Given the description of an element on the screen output the (x, y) to click on. 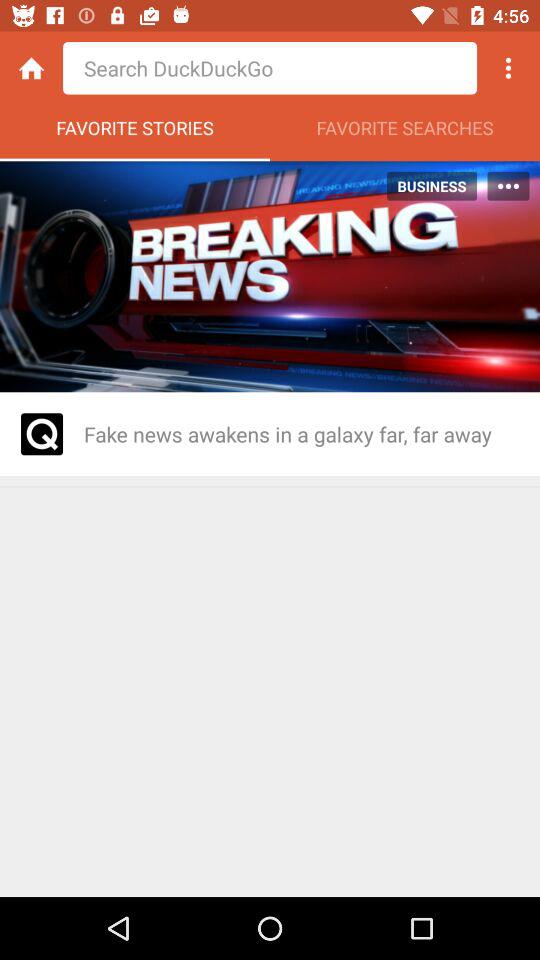
ativando esta funo ser analisado pessoas que publicam noticias falsas (42, 434)
